Given the description of an element on the screen output the (x, y) to click on. 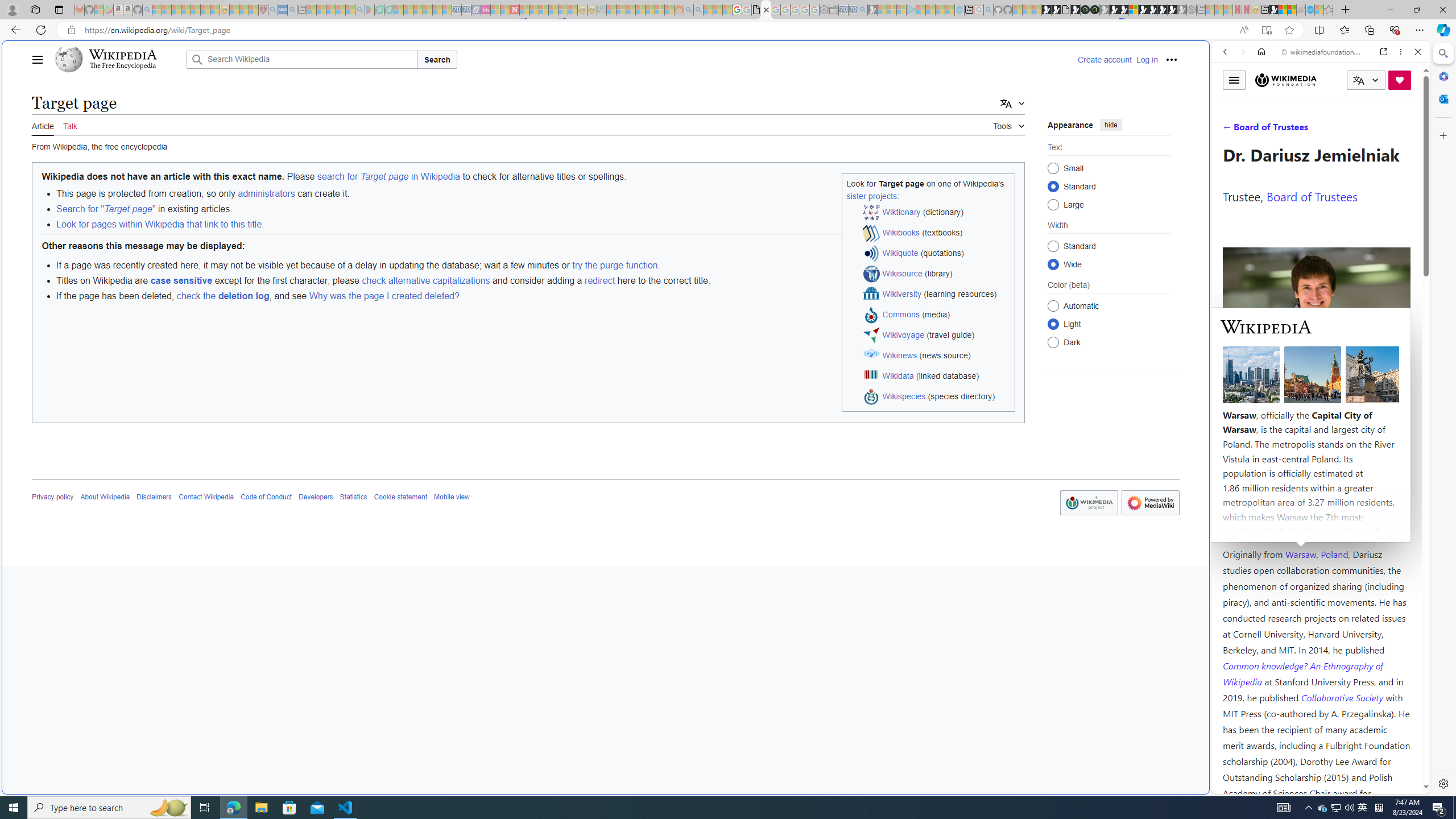
Frequently visited (965, 151)
Contact Wikipedia (206, 497)
Light (1053, 323)
Board of Trustees (1311, 195)
Bing Real Estate - Home sales and rental listings - Sleeping (862, 9)
NCL Adult Asthma Inhaler Choice Guideline - Sleeping (282, 9)
Latest Politics News & Archive | Newsweek.com - Sleeping (514, 9)
Sign in to your account (1133, 9)
